Given the description of an element on the screen output the (x, y) to click on. 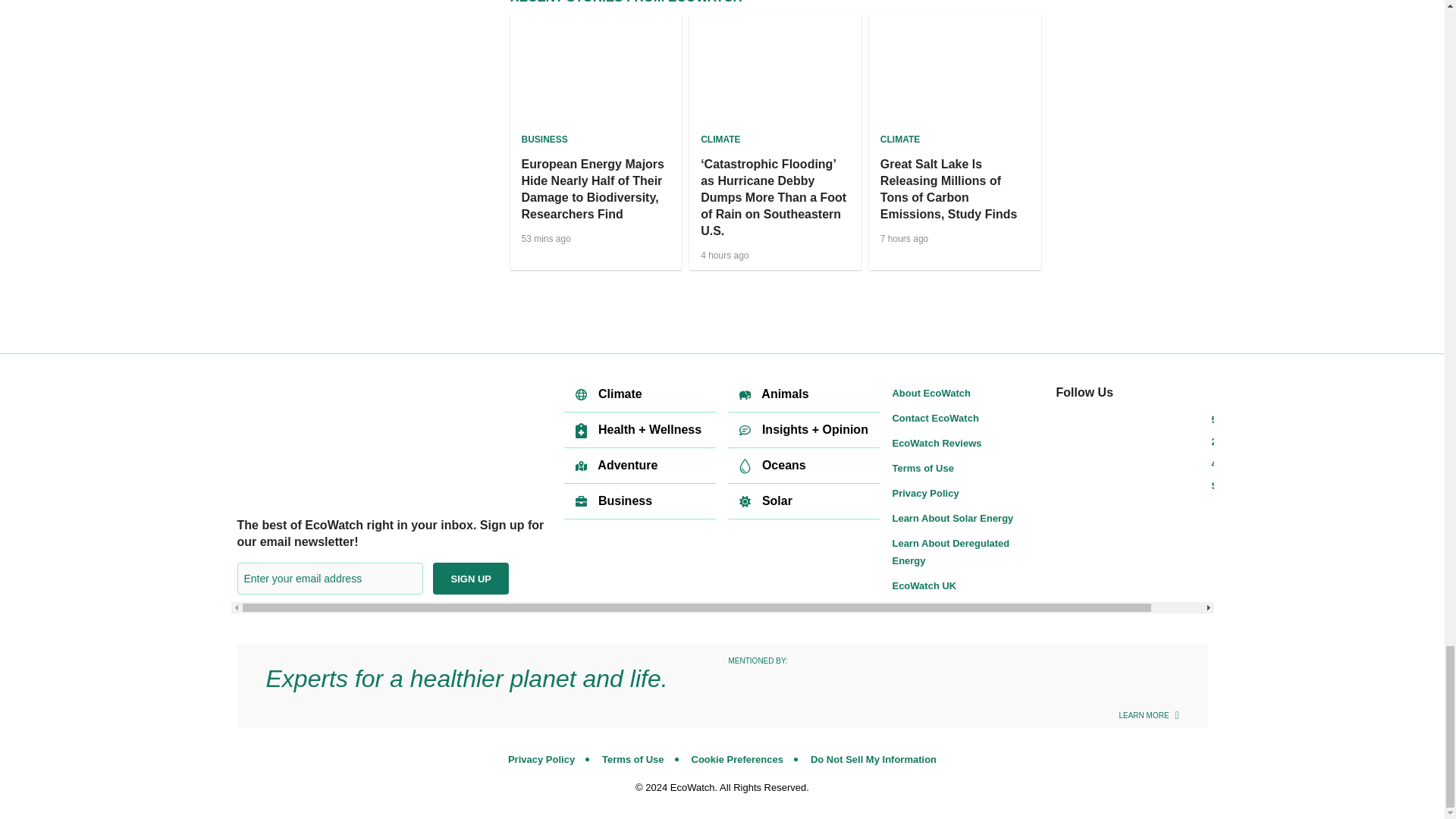
Sign Up (470, 578)
